Given the description of an element on the screen output the (x, y) to click on. 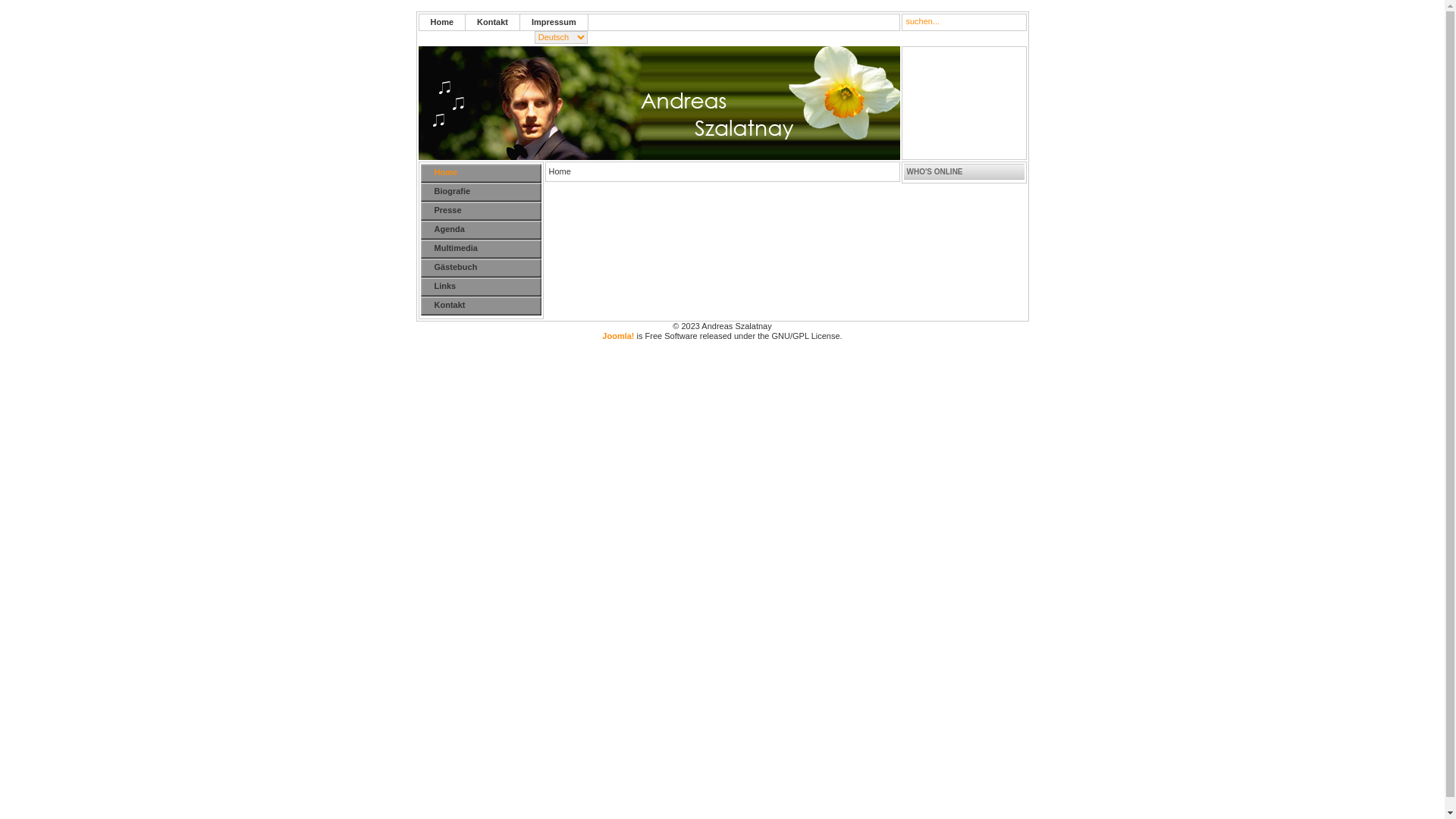
Links Element type: text (487, 286)
Agenda Element type: text (487, 229)
Kontakt Element type: text (487, 305)
Presse Element type: text (487, 210)
Impressum Element type: text (553, 22)
Biografie Element type: text (487, 191)
Home Element type: text (441, 22)
Multimedia Element type: text (487, 248)
Home Element type: text (487, 172)
Kontakt Element type: text (492, 22)
Joomla! Element type: text (617, 335)
